Given the description of an element on the screen output the (x, y) to click on. 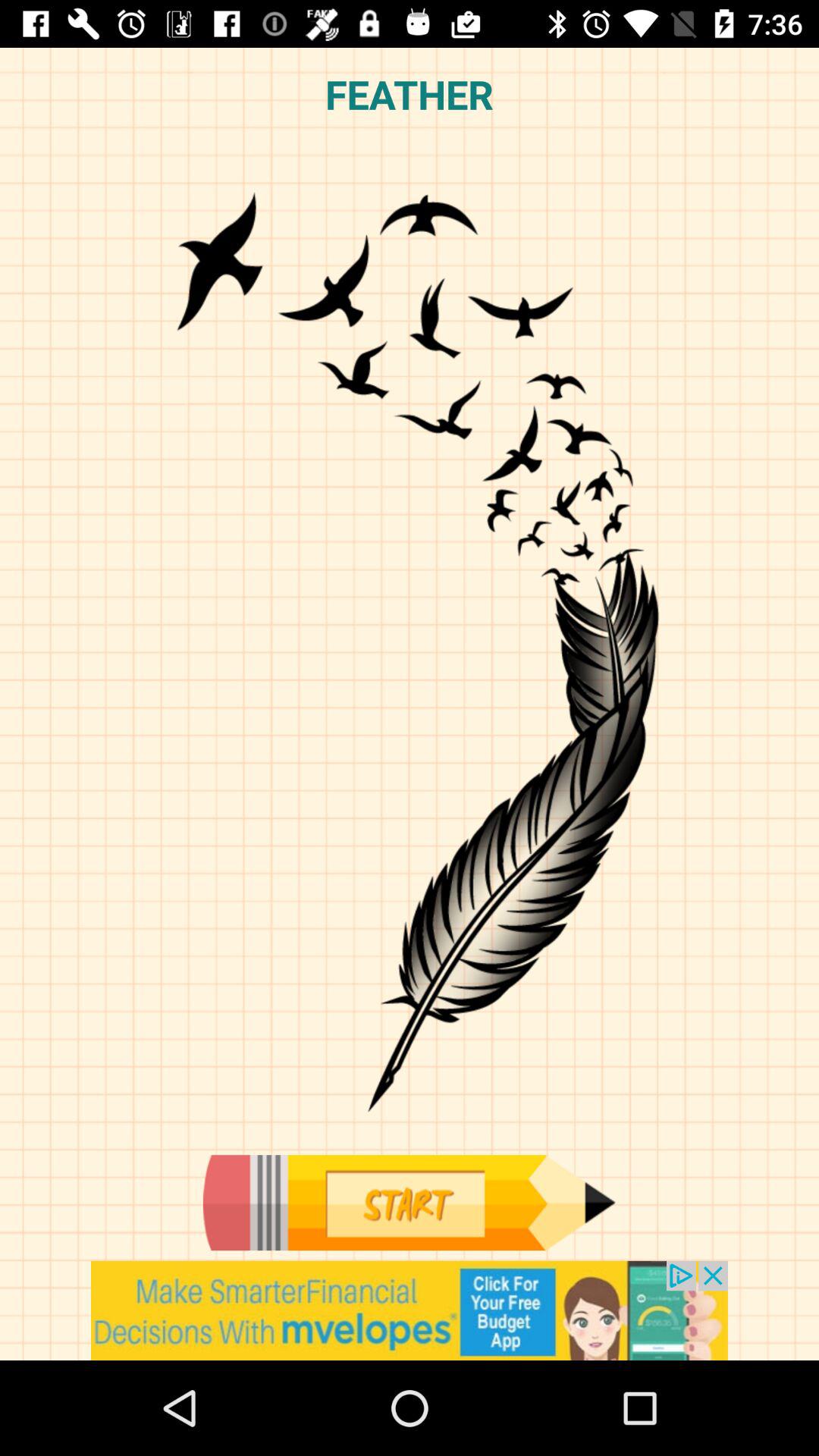
open advertisement (409, 1310)
